Given the description of an element on the screen output the (x, y) to click on. 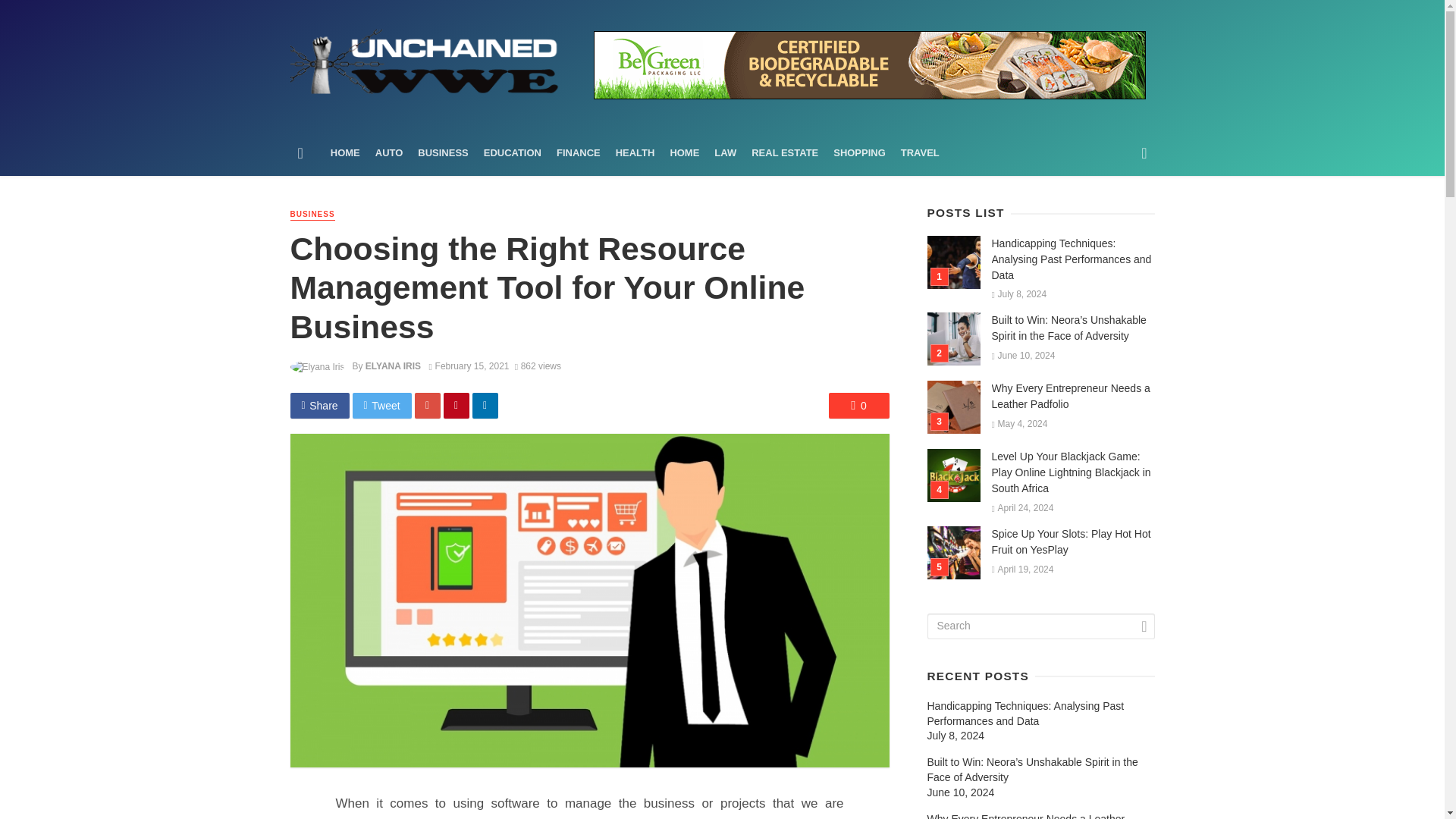
HEALTH (635, 153)
SHOPPING (859, 153)
HOME (345, 153)
FINANCE (578, 153)
EDUCATION (512, 153)
ELYANA IRIS (392, 366)
BUSINESS (311, 214)
Share (319, 405)
TRAVEL (920, 153)
BUSINESS (443, 153)
Tweet (382, 405)
Posts by Elyana Iris (392, 366)
HOME (684, 153)
0 (858, 405)
February 15, 2021 at 12:43 pm (469, 366)
